Given the description of an element on the screen output the (x, y) to click on. 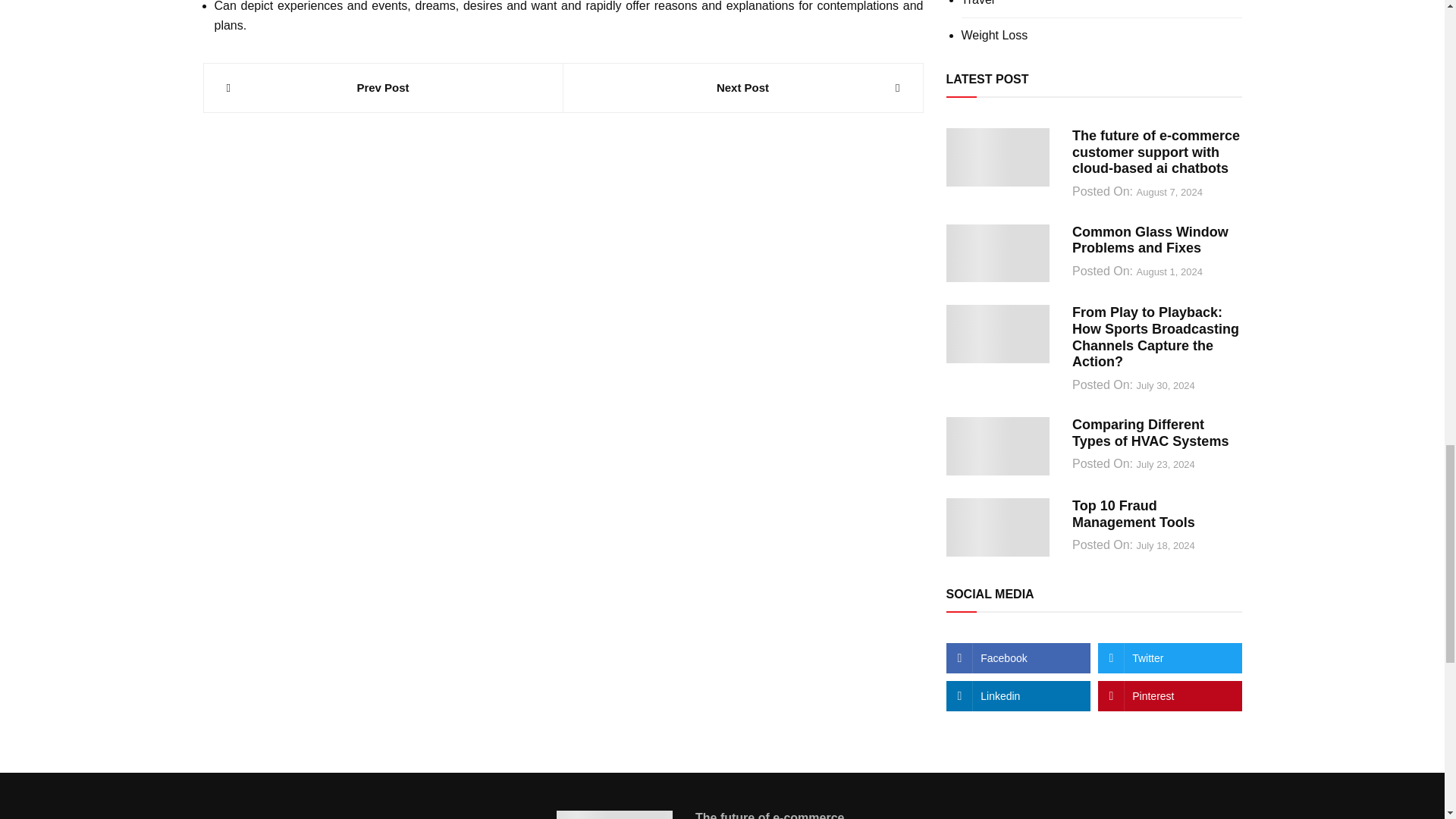
Prev Post (381, 87)
Next Post (742, 87)
